Given the description of an element on the screen output the (x, y) to click on. 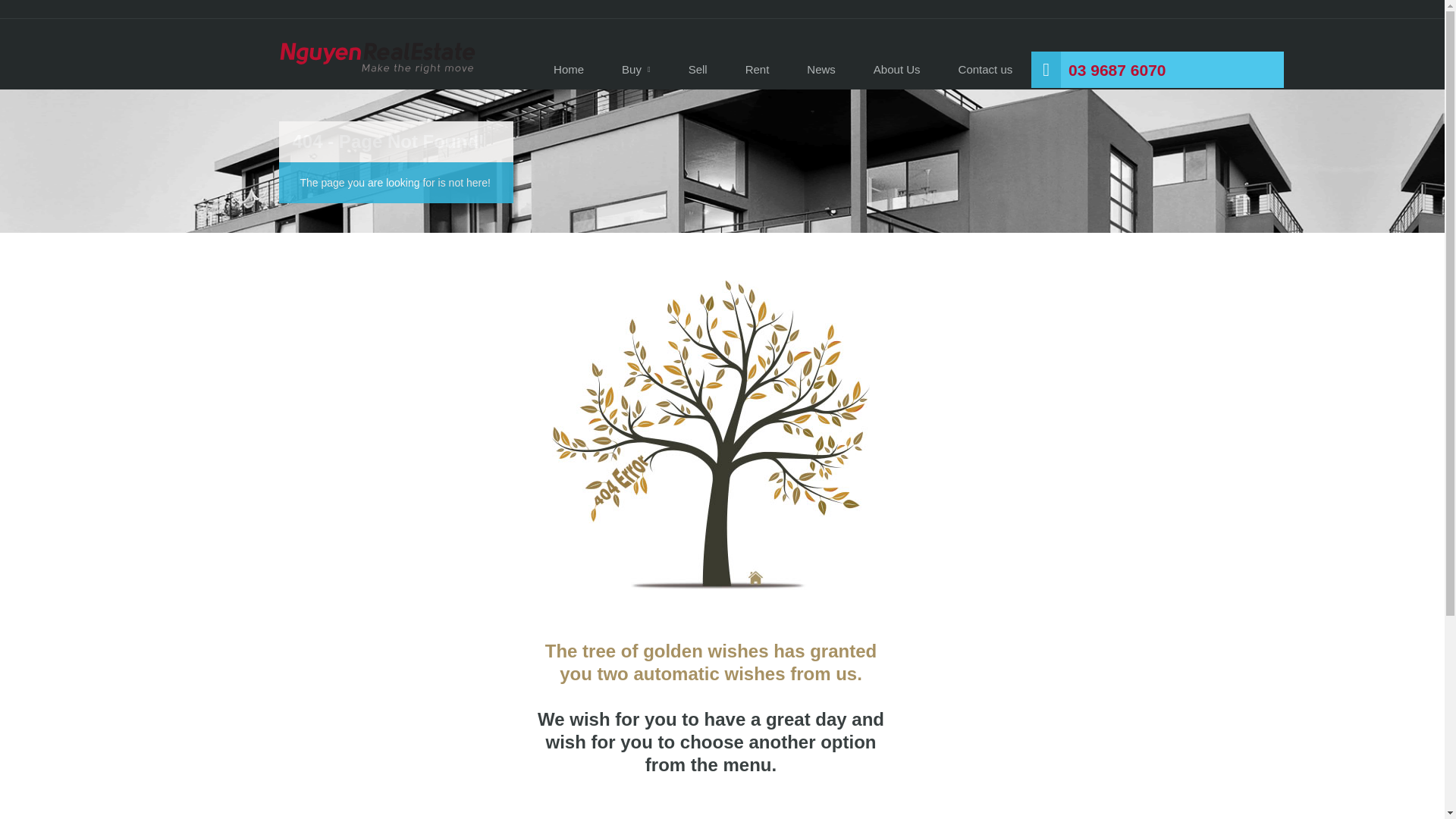
Buy (635, 70)
News (820, 69)
About Us (896, 69)
Contact us (985, 69)
Sell (697, 69)
Nguyen Real Estate (377, 65)
Rent (757, 69)
Home (568, 69)
